Given the description of an element on the screen output the (x, y) to click on. 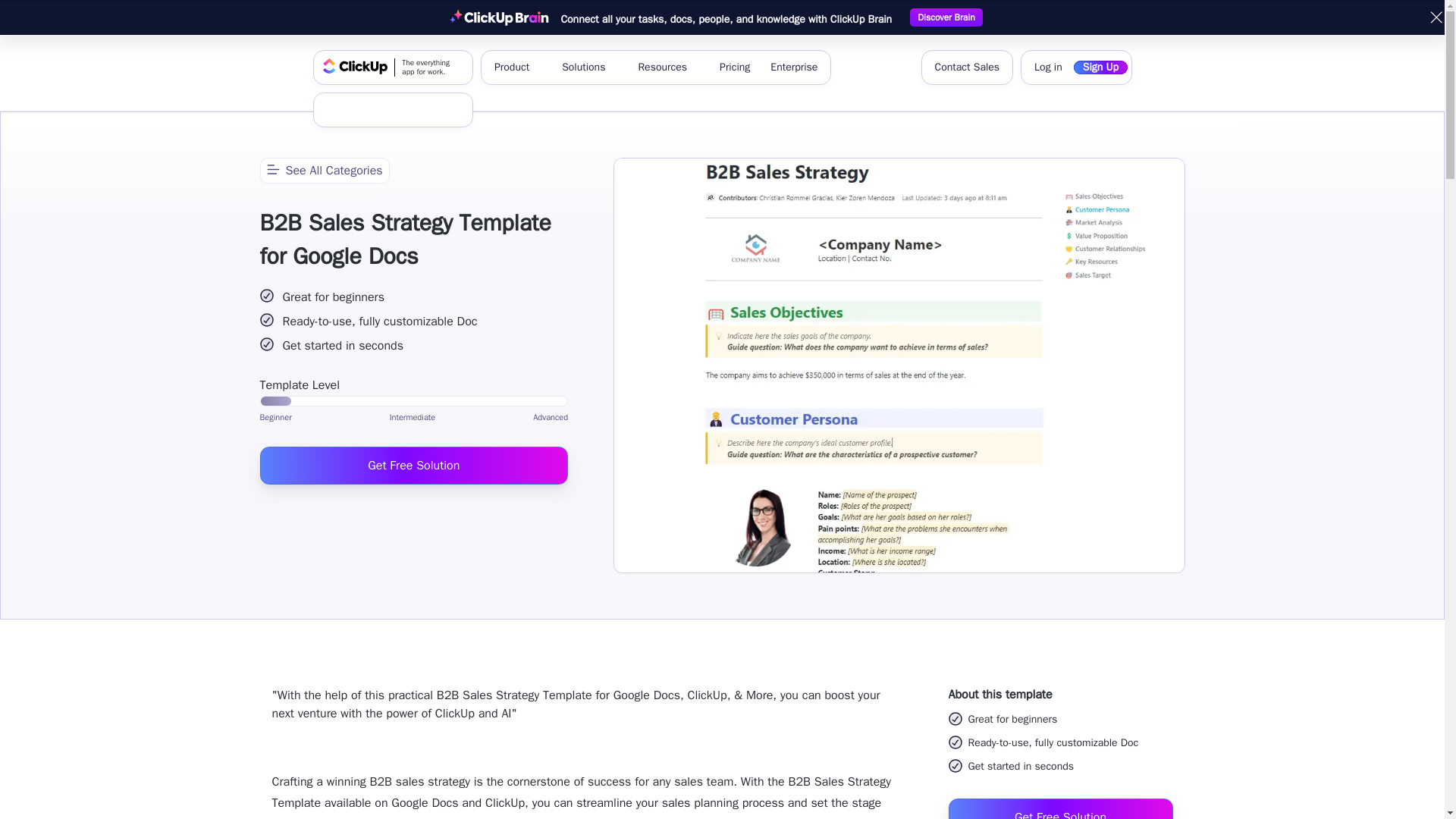
Pricing (734, 67)
Close banner (1435, 17)
Sign Up (1099, 67)
Solutions (589, 67)
Contact Sales (966, 67)
Resources (667, 67)
Discover Brain (945, 17)
Log in (393, 67)
Sign Up (1048, 67)
Product (375, 109)
Open mobile Menu (517, 67)
See All Categories (429, 109)
Enterprise (323, 170)
